Given the description of an element on the screen output the (x, y) to click on. 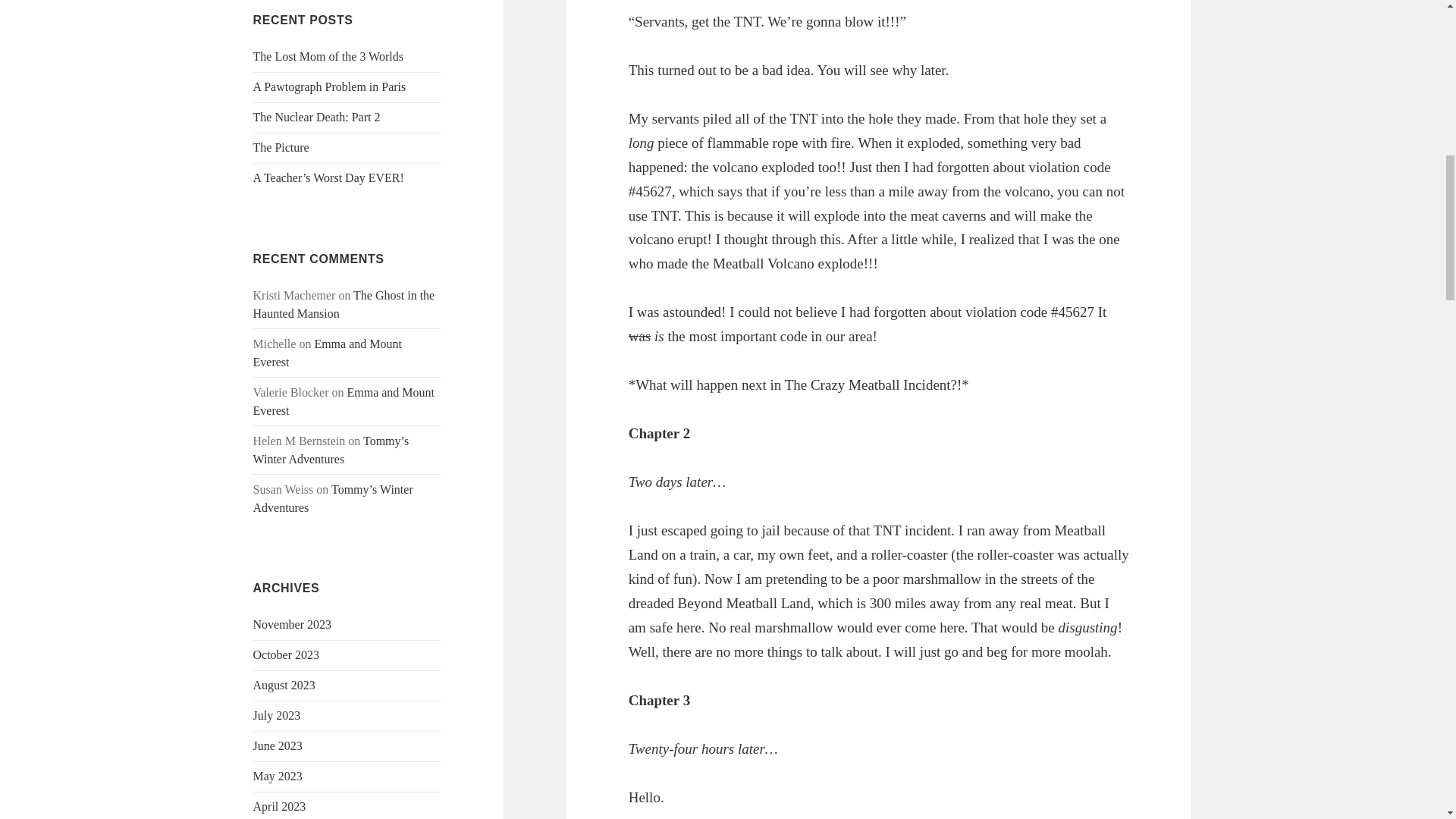
Emma and Mount Everest (344, 400)
April 2023 (279, 806)
A Pawtograph Problem in Paris (329, 86)
The Picture (280, 146)
May 2023 (277, 775)
Emma and Mount Everest (327, 352)
November 2023 (292, 624)
August 2023 (284, 684)
October 2023 (286, 654)
July 2023 (277, 715)
